Given the description of an element on the screen output the (x, y) to click on. 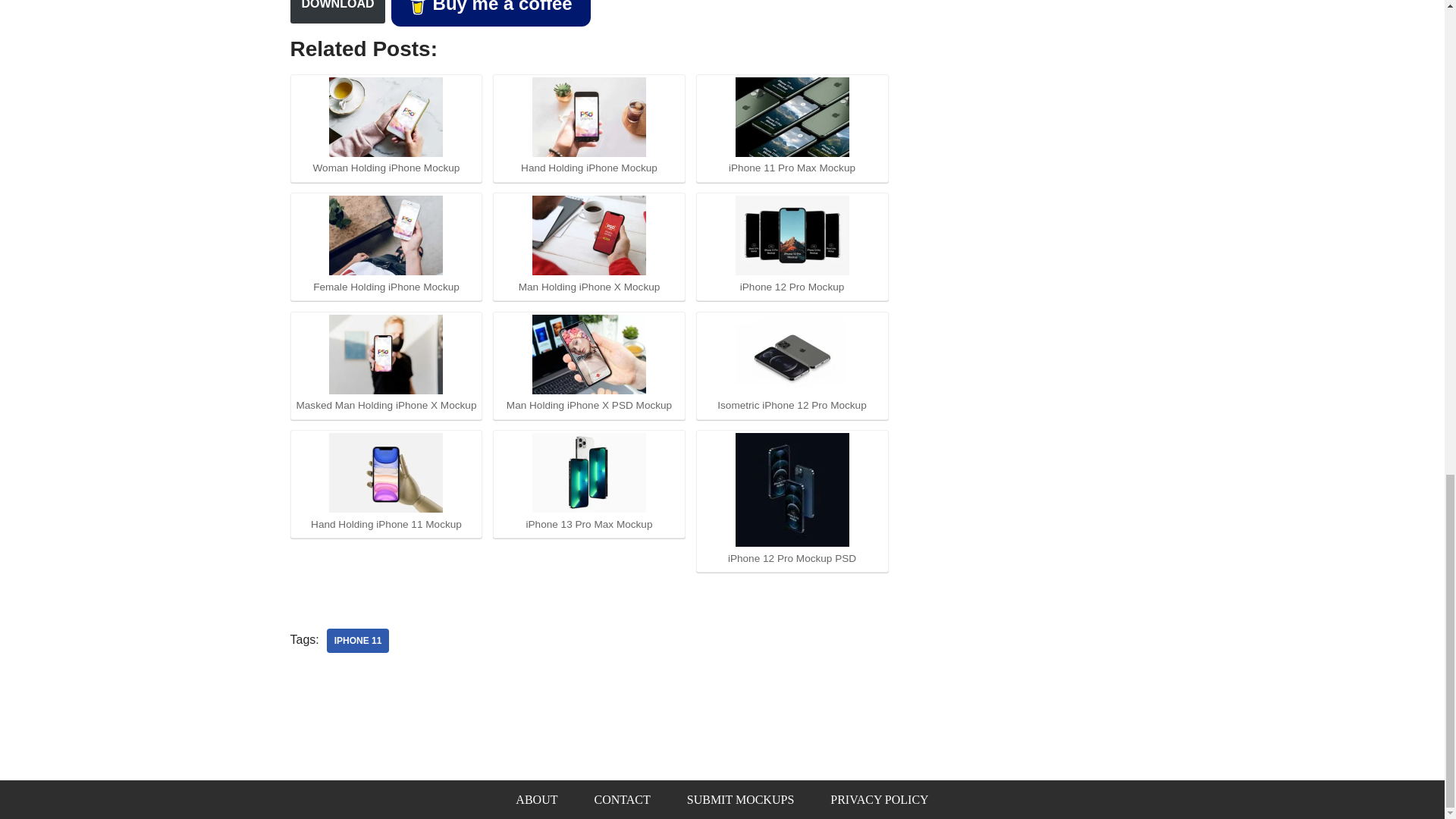
iPhone 13 Pro Max Mockup (589, 472)
iPhone 12 Pro Mockup PSD (791, 490)
iPhone 12 Pro Mockup (791, 235)
Hand Holding iPhone 11 Mockup (385, 472)
iPhone 11 Pro Max Mockup (791, 116)
iPhone 11 (358, 640)
Masked Man Holding iPhone X Mockup (385, 353)
Female Holding iPhone Mockup (385, 235)
Woman Holding iPhone Mockup (385, 116)
Man Holding iPhone X Mockup (589, 235)
Hand Holding iPhone Mockup (589, 116)
Isometric iPhone 12 Pro Mockup (791, 353)
Man Holding iPhone X PSD Mockup (589, 353)
